Given the description of an element on the screen output the (x, y) to click on. 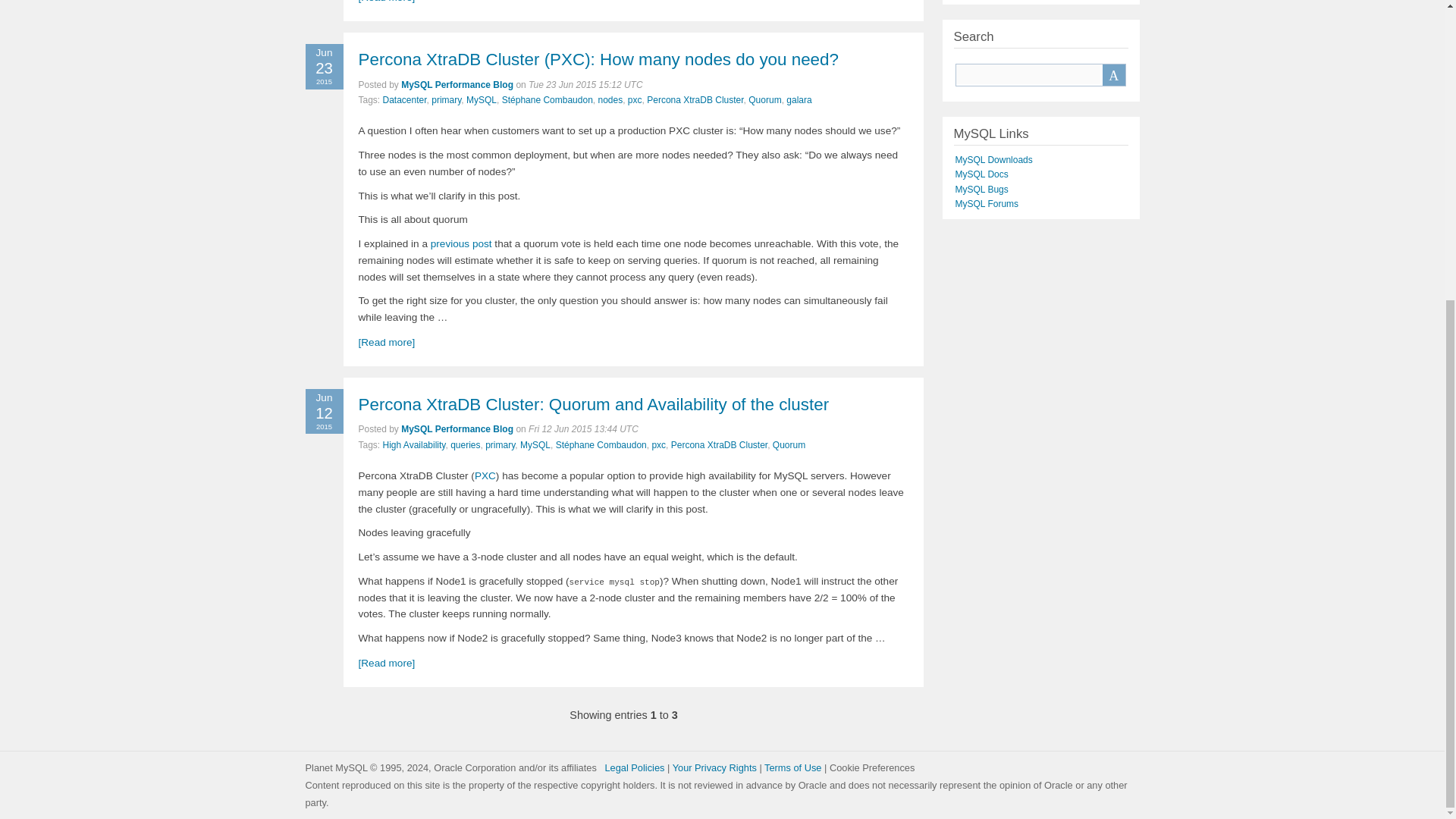
primary (445, 100)
MySQL Performance Blog (457, 84)
Datacenter (404, 100)
Search (1113, 74)
